Given the description of an element on the screen output the (x, y) to click on. 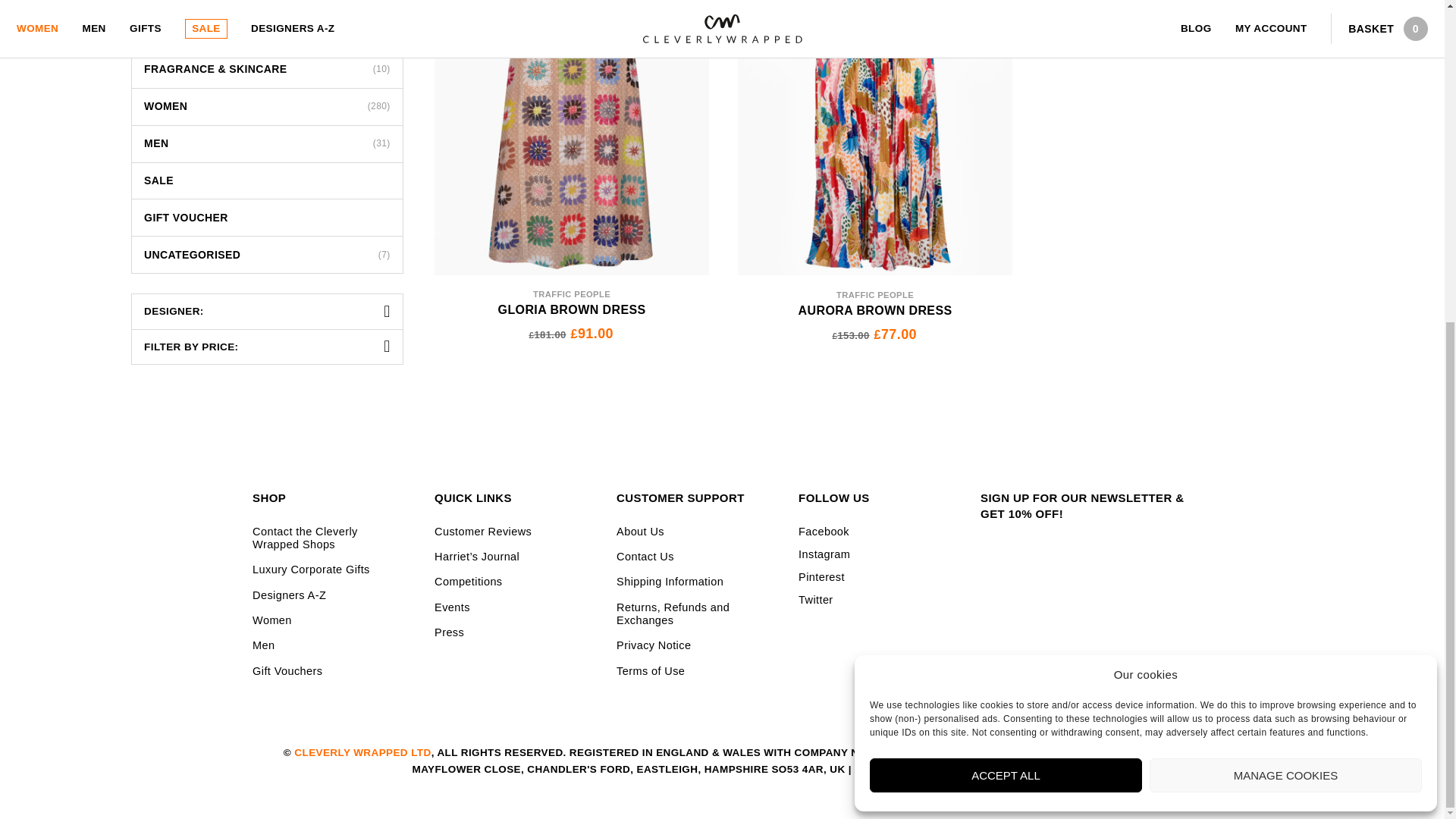
Follow us on Facebook (874, 531)
Follow us on Instagram (874, 553)
Follow us on Pinterest (874, 577)
MANAGE COOKIES (1286, 249)
ACCEPT ALL (1005, 249)
Follow us on Twitter (874, 599)
